Given the description of an element on the screen output the (x, y) to click on. 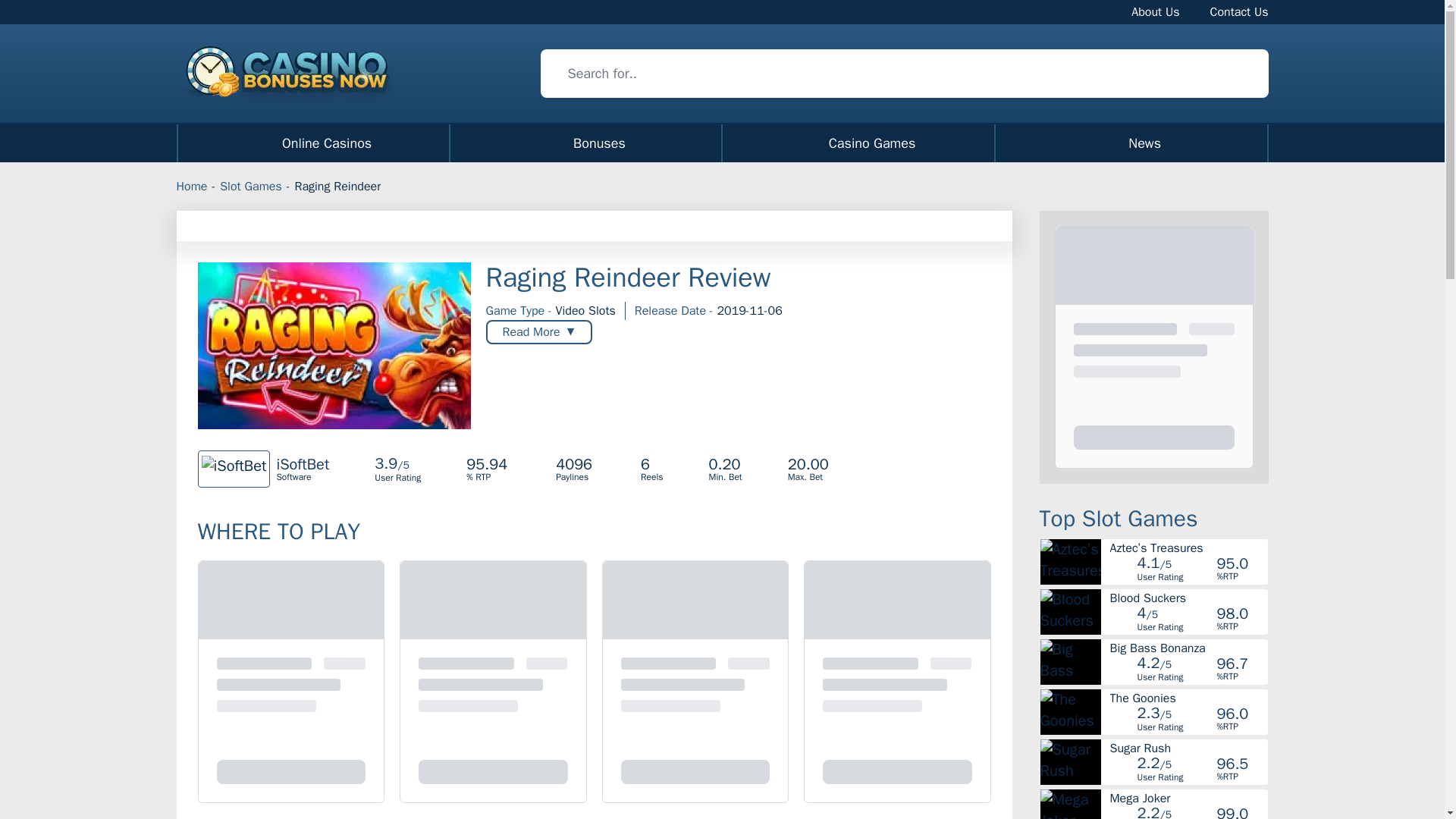
Contact Us (721, 142)
Sugar Rush (1238, 11)
About Us (1187, 748)
The Goonies (1155, 11)
Blood Suckers (1187, 698)
Big Bass Bonanza (1187, 598)
Mega Joker (1187, 648)
